Given the description of an element on the screen output the (x, y) to click on. 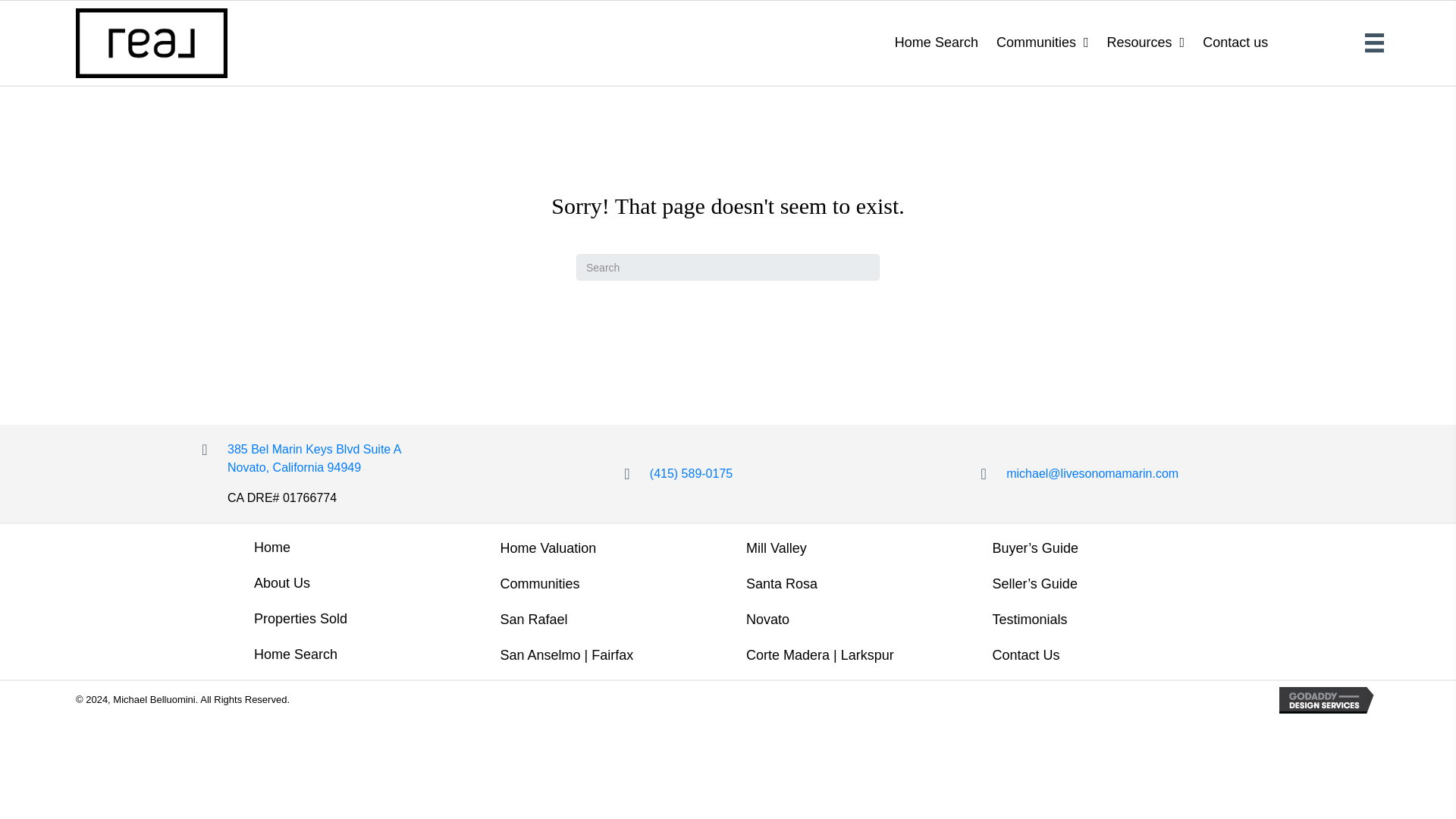
Santa Rosa (781, 584)
Communities (539, 584)
Resources (1145, 42)
Home Valuation (547, 548)
Home Search (936, 42)
About Us (282, 583)
Properties Sold (300, 618)
Contact us (1235, 42)
uabb-menu-toggle (1374, 42)
Home Search (296, 654)
Type and press Enter to search. (727, 266)
Communities (1042, 42)
San Rafael (532, 619)
Home (272, 547)
